Given the description of an element on the screen output the (x, y) to click on. 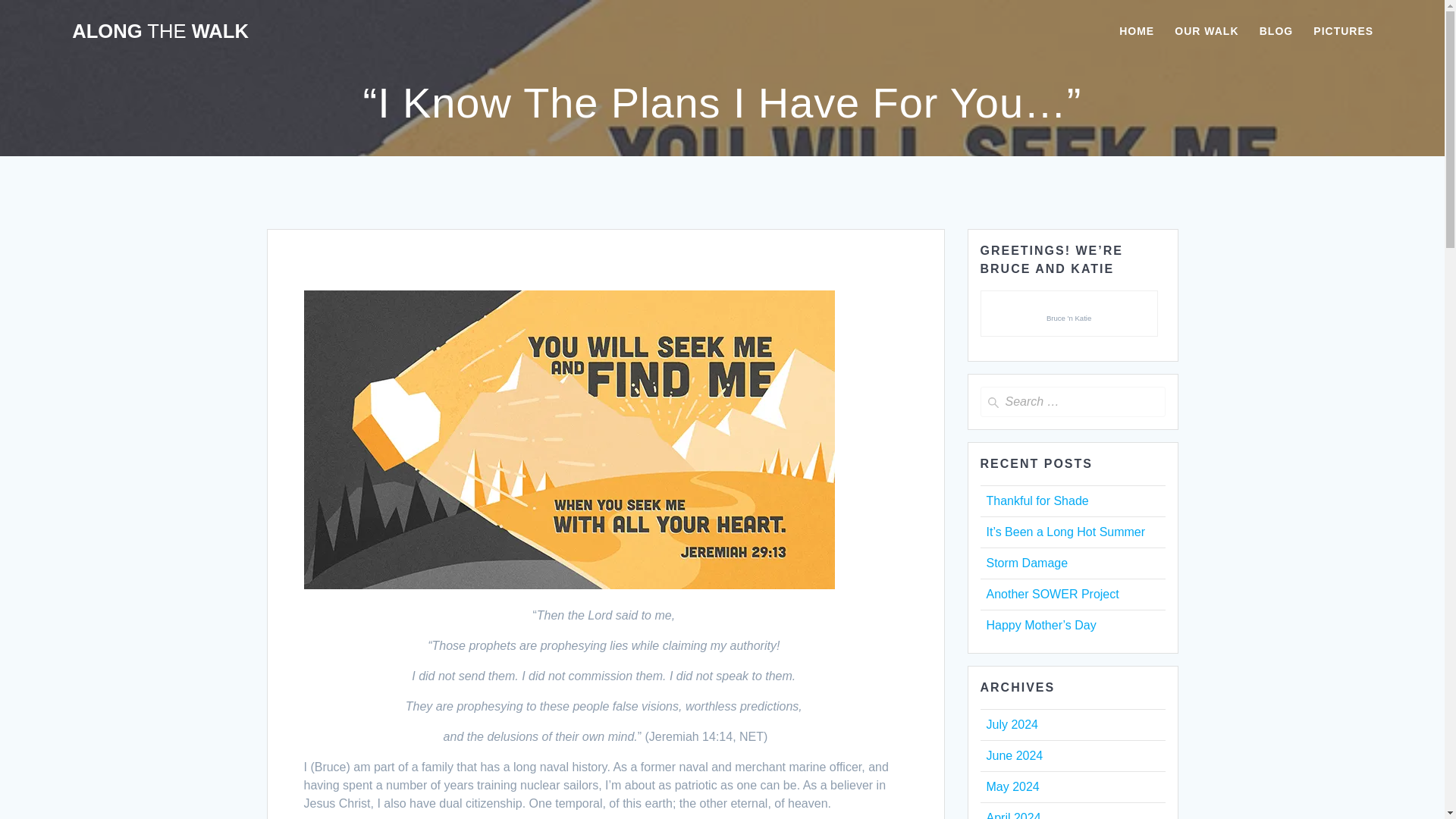
April 2024 (1013, 815)
ALONG THE WALK (159, 31)
June 2024 (1013, 755)
OUR WALK (1206, 31)
BLOG (1275, 31)
July 2024 (1011, 724)
HOME (1136, 31)
Storm Damage (1026, 562)
Thankful for Shade (1036, 500)
May 2024 (1012, 786)
Another SOWER Project (1051, 594)
PICTURES (1343, 31)
